Given the description of an element on the screen output the (x, y) to click on. 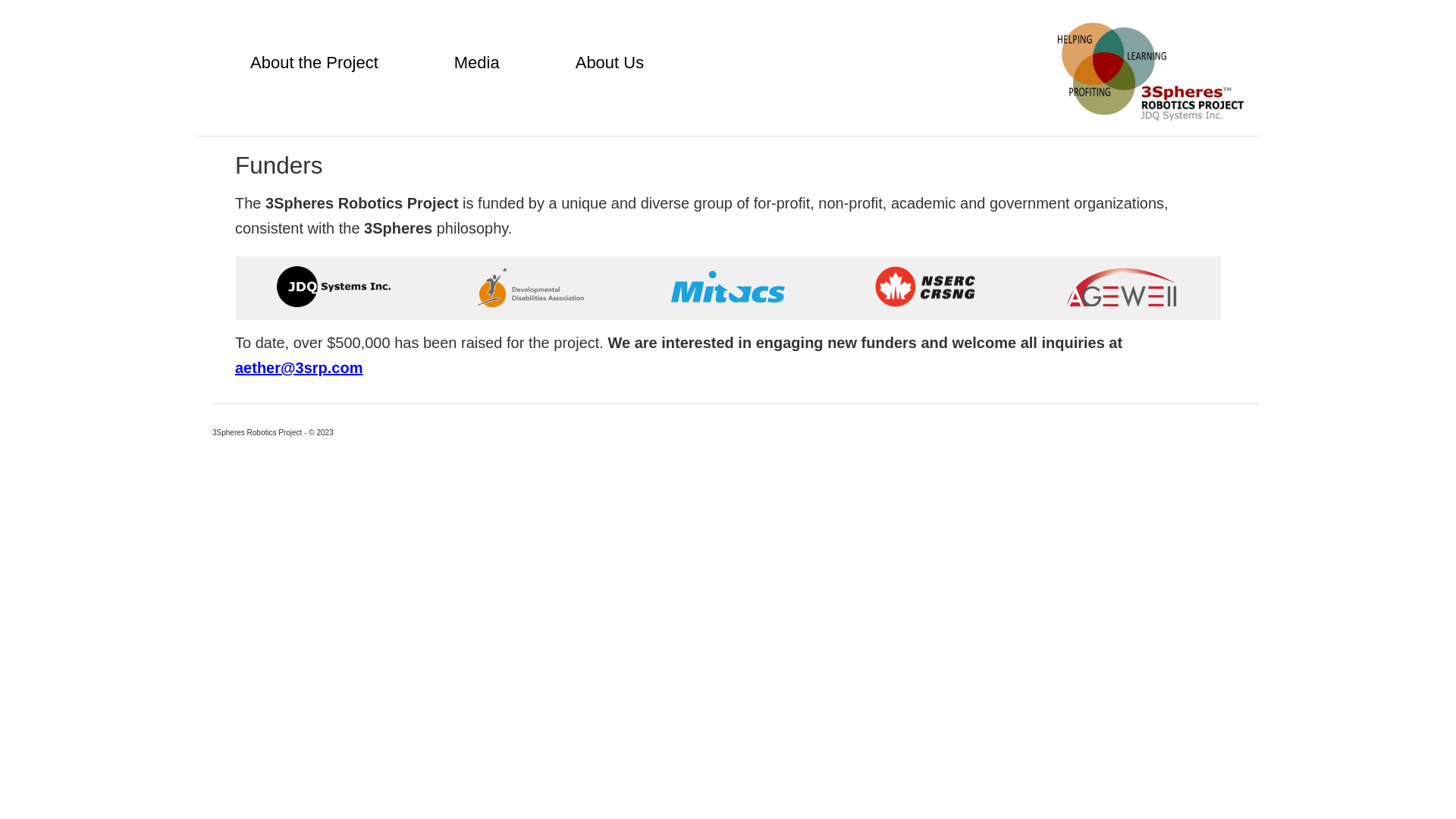
About Us Element type: text (609, 62)
Media Element type: text (476, 62)
aether@3srp.com Element type: text (298, 367)
About the Project Element type: text (314, 62)
